Given the description of an element on the screen output the (x, y) to click on. 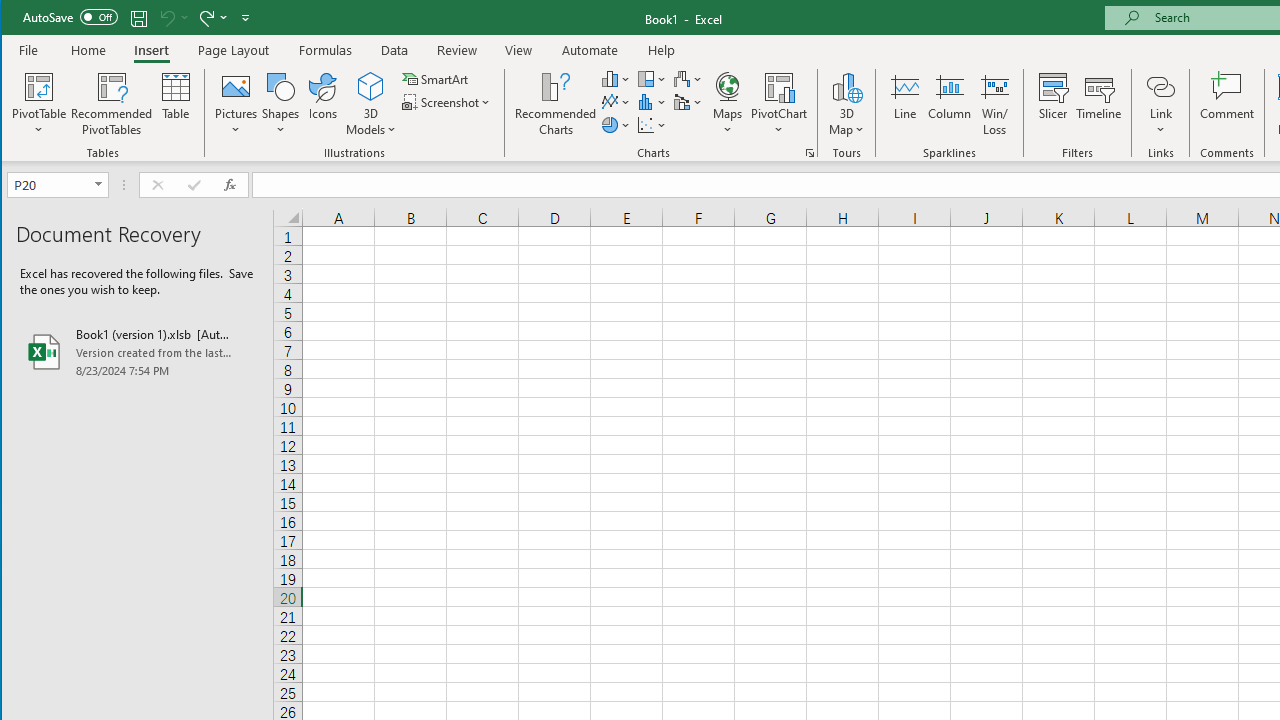
Insert Hierarchy Chart (652, 78)
Insert (151, 50)
Shapes (280, 104)
Slicer... (1052, 104)
Save (139, 17)
Automate (589, 50)
3D Map (846, 86)
Book1 (version 1).xlsb  [AutoRecovered] (137, 352)
Redo (211, 17)
Customize Quick Access Toolbar (245, 17)
PivotChart (779, 86)
Insert Statistic Chart (652, 101)
System (19, 18)
View (518, 50)
3D Map (846, 104)
